Given the description of an element on the screen output the (x, y) to click on. 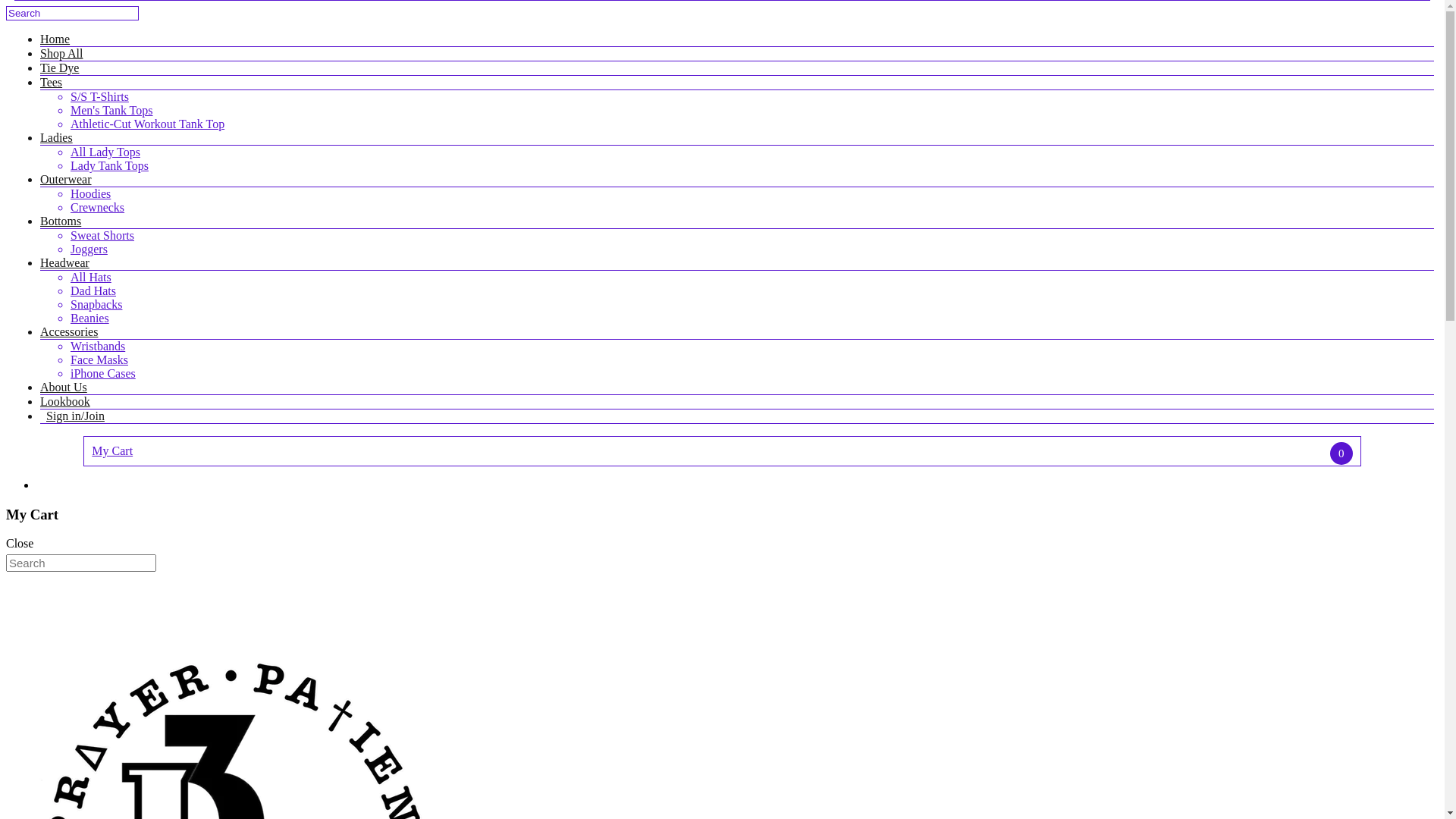
Tees Element type: text (51, 81)
Dad Hats Element type: text (93, 290)
Ladies Element type: text (56, 137)
iPhone Cases Element type: text (102, 373)
Face Masks Element type: text (99, 359)
All Lady Tops Element type: text (105, 151)
S/S T-Shirts Element type: text (99, 96)
Bottoms Element type: text (60, 220)
Outerwear Element type: text (65, 178)
Snapbacks Element type: text (96, 304)
0
My Cart Element type: text (721, 451)
Home Element type: text (54, 38)
Beanies Element type: text (89, 317)
Tie Dye Element type: text (59, 67)
Joggers Element type: text (88, 248)
Lookbook Element type: text (65, 401)
Hoodies Element type: text (90, 193)
Accessories Element type: text (68, 331)
Men's Tank Tops Element type: text (111, 109)
Sweat Shorts Element type: text (102, 235)
Wristbands Element type: text (97, 345)
Shop All Element type: text (61, 53)
Crewnecks Element type: text (97, 206)
Headwear Element type: text (64, 262)
Athletic-Cut Workout Tank Top Element type: text (147, 123)
Lady Tank Tops Element type: text (109, 165)
All Hats Element type: text (90, 276)
About Us Element type: text (63, 386)
Sign in/Join Element type: text (75, 415)
